Given the description of an element on the screen output the (x, y) to click on. 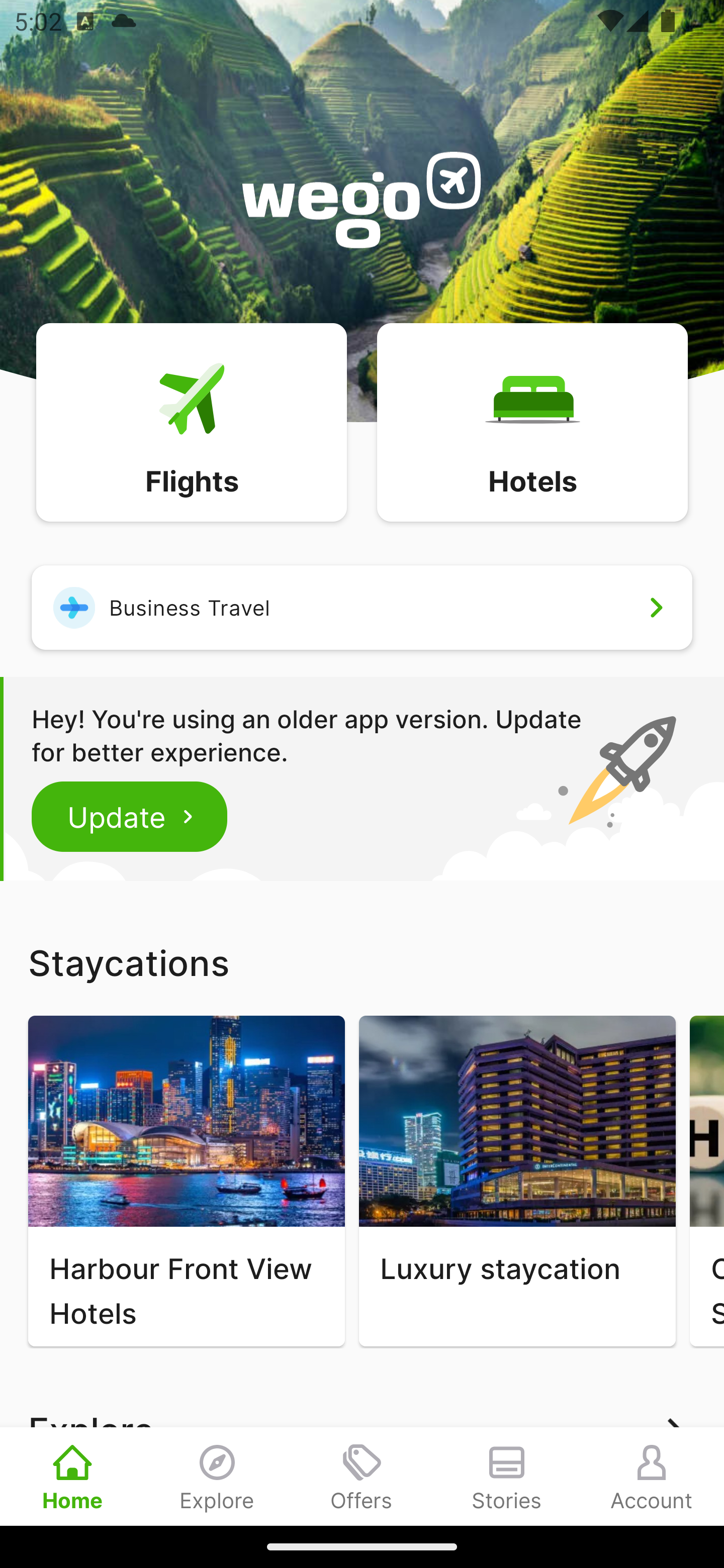
Flights (191, 420)
Hotels (532, 420)
Business Travel (361, 607)
Update (129, 815)
Staycations (362, 962)
Harbour Front View Hotels (186, 1181)
Luxury staycation (517, 1181)
Explore (216, 1475)
Offers (361, 1475)
Stories (506, 1475)
Account (651, 1475)
